Given the description of an element on the screen output the (x, y) to click on. 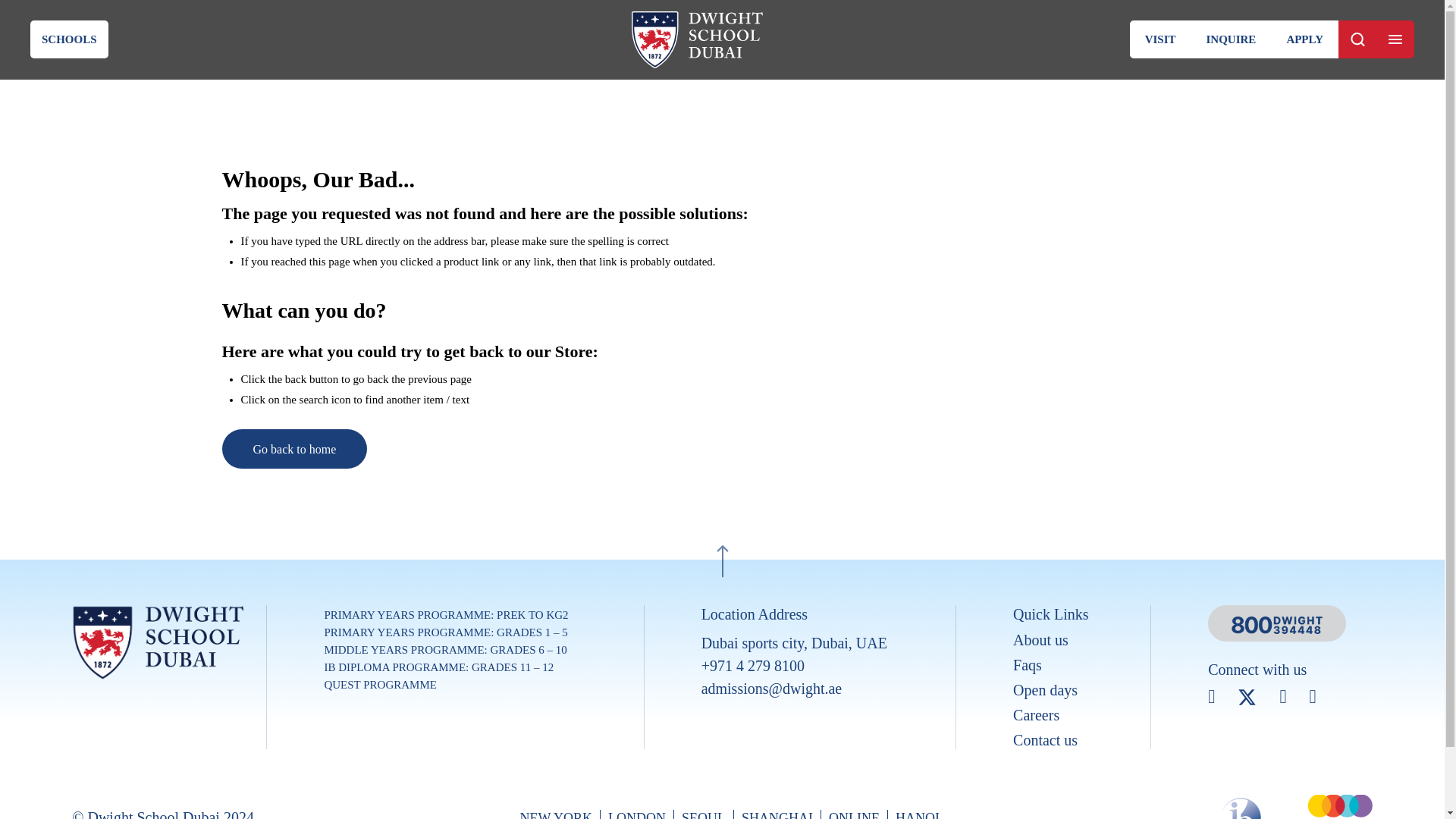
INQUIRE (1231, 39)
SCHOOLS (68, 39)
APPLY (1304, 39)
VISIT (1160, 39)
